Given the description of an element on the screen output the (x, y) to click on. 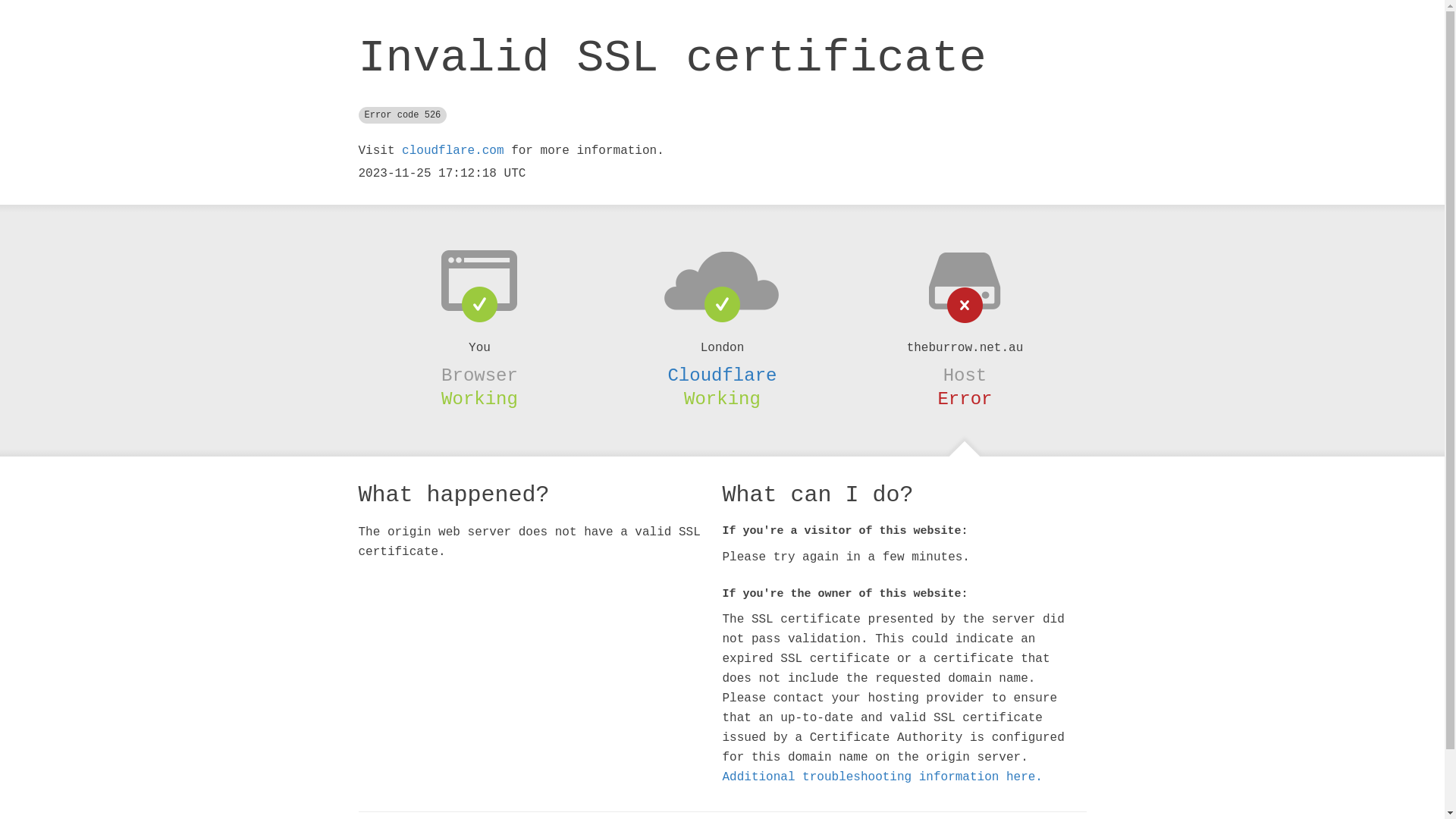
Additional troubleshooting information here. Element type: text (881, 777)
Cloudflare Element type: text (721, 375)
cloudflare.com Element type: text (452, 150)
